Given the description of an element on the screen output the (x, y) to click on. 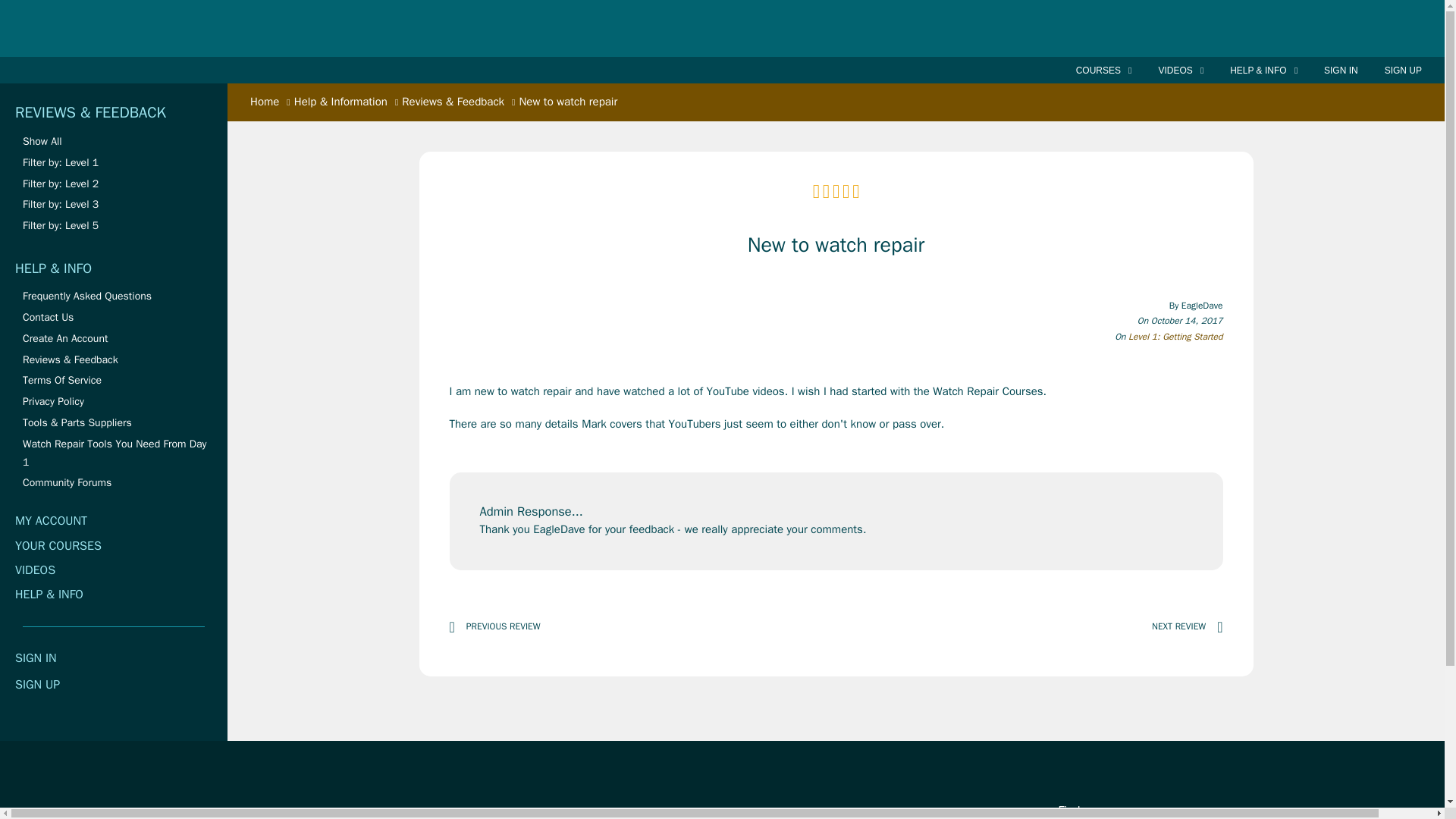
Back to watch repair course home page (414, 817)
WatchFix Homepage (109, 27)
Back to home page (264, 102)
New to watch repair (564, 102)
